Given the description of an element on the screen output the (x, y) to click on. 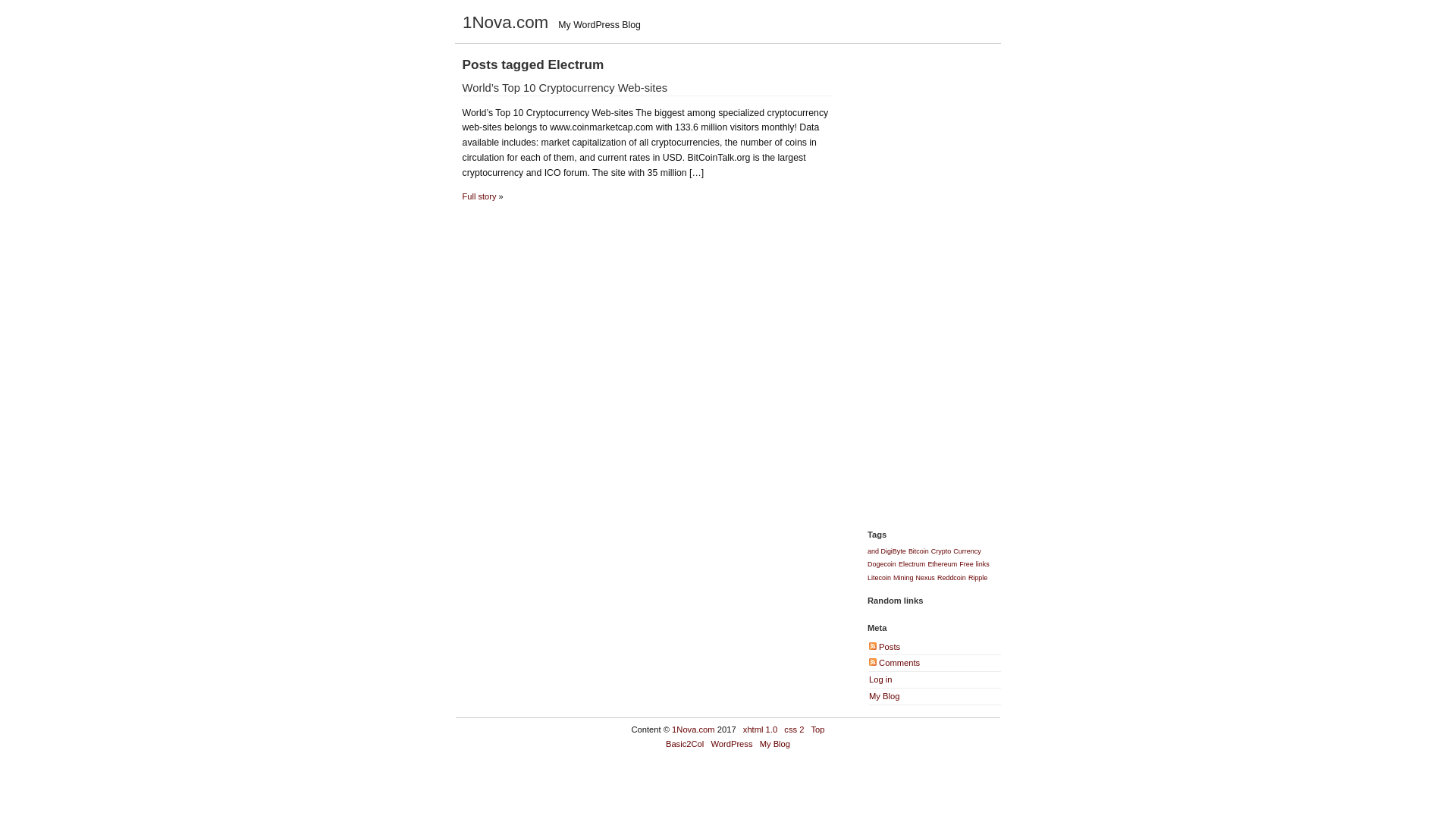
Electrum Element type: text (911, 563)
Bitcoin Element type: text (918, 551)
css 2 Element type: text (793, 729)
Log in Element type: text (880, 679)
Advertisement Element type: hover (982, 283)
Crypto Element type: text (940, 551)
My Blog Element type: text (884, 695)
My Blog Element type: text (774, 743)
Basic2Col Element type: text (684, 743)
Ripple Element type: text (977, 577)
1Nova.com Element type: text (693, 729)
Top Element type: text (818, 729)
Posts Element type: text (884, 646)
and DigiByte Element type: text (886, 551)
Reddcoin Element type: text (951, 577)
Dogecoin Element type: text (881, 563)
Comments Element type: text (894, 662)
WordPress Element type: text (731, 743)
Nexus Element type: text (924, 577)
Free Element type: text (965, 563)
1Nova.com Element type: text (505, 21)
Litecoin Element type: text (879, 577)
Ethereum Element type: text (942, 563)
links Element type: text (982, 563)
xhtml 1.0 Element type: text (760, 729)
Currency Element type: text (966, 551)
Mining Element type: text (903, 577)
Full story Element type: text (479, 195)
